Given the description of an element on the screen output the (x, y) to click on. 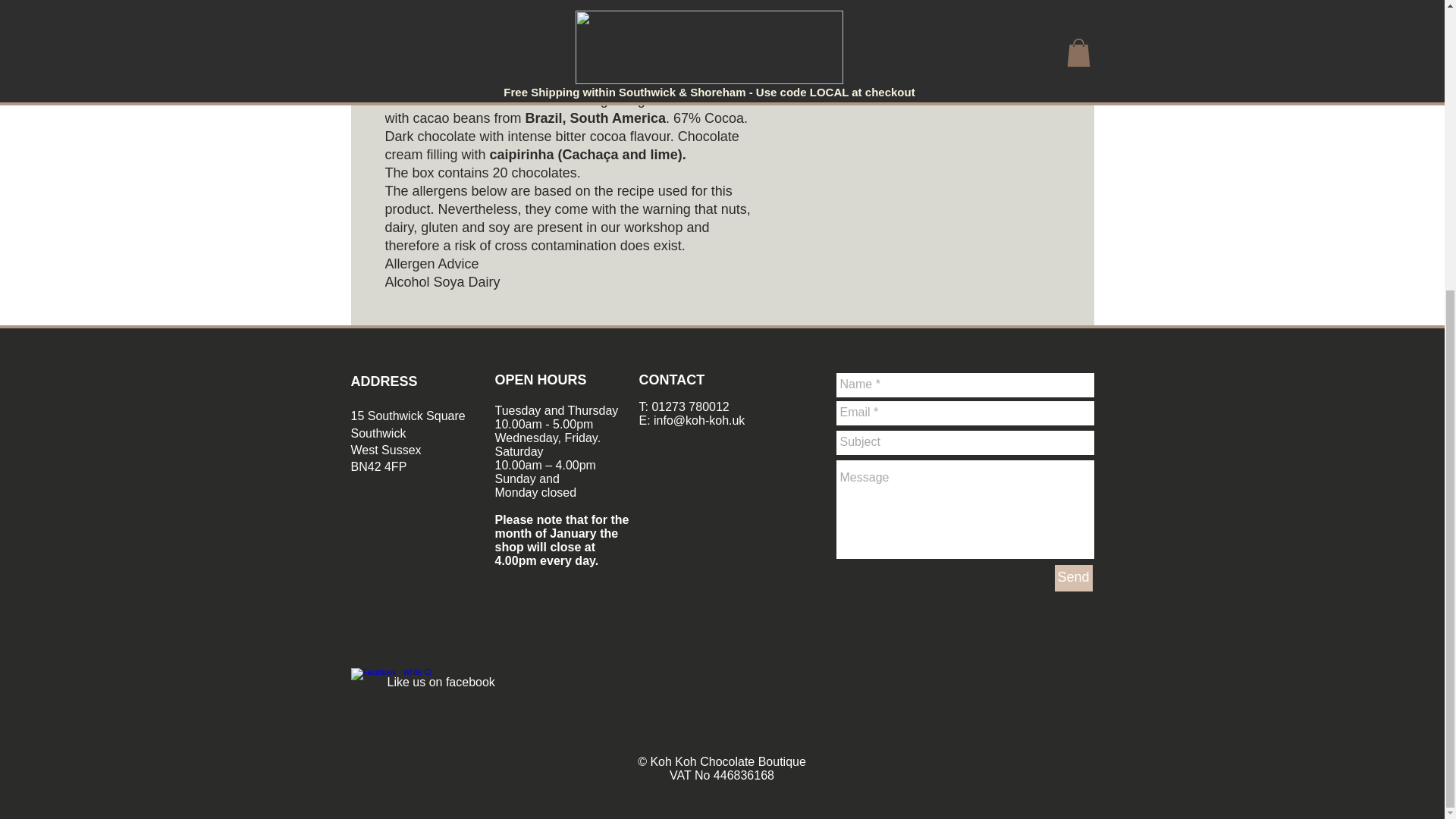
Send (1073, 578)
Like us on facebook (441, 681)
